Given the description of an element on the screen output the (x, y) to click on. 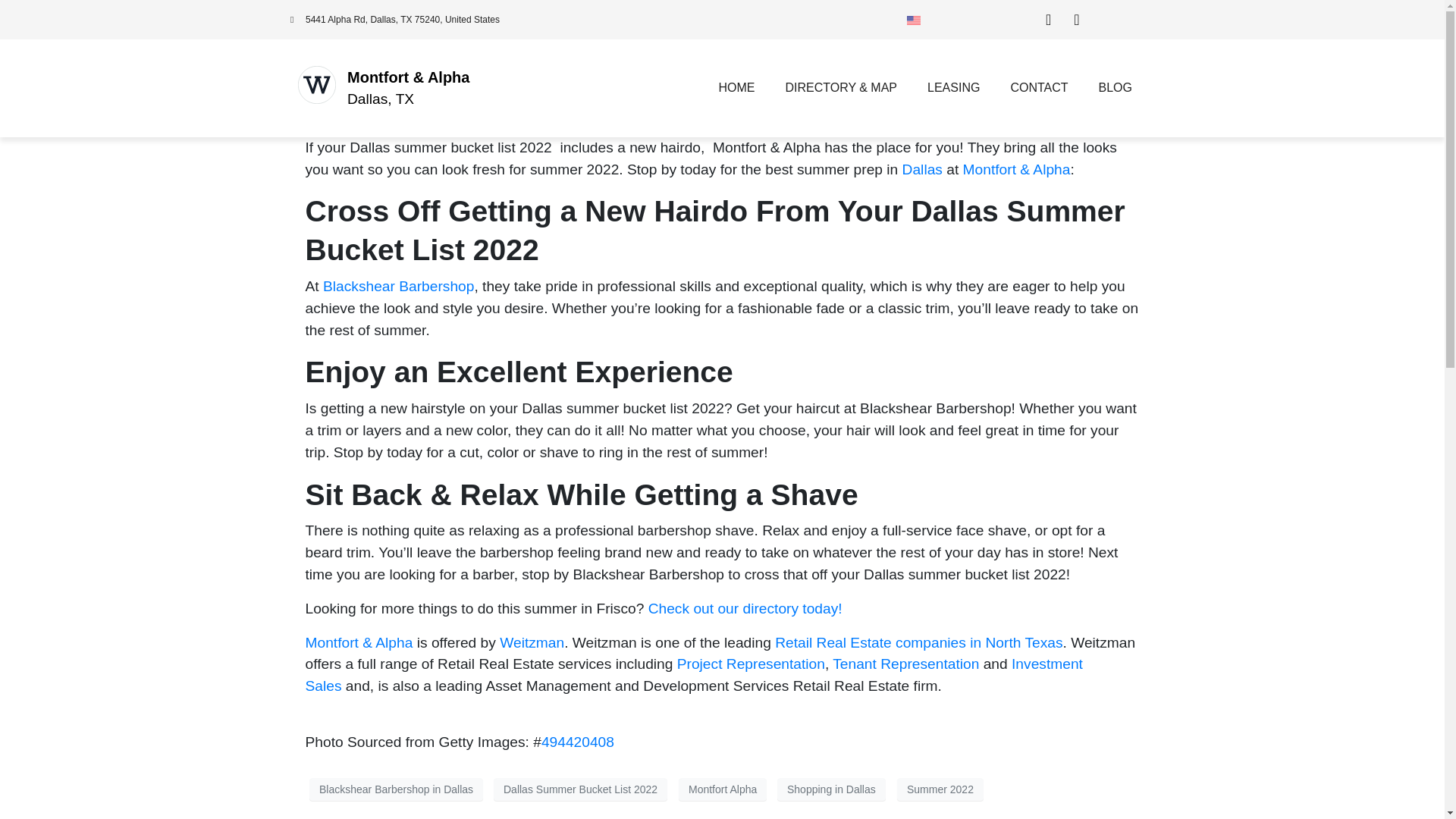
Blackshear Barbershop in Dallas (395, 789)
Project Representation (751, 663)
CONTACT (1038, 87)
Investment Sales (692, 674)
Montfort Alpha (722, 789)
LEASING (953, 87)
Dallas (922, 169)
494420408 (577, 741)
BLOG (1115, 87)
Weitzman (531, 642)
